Given the description of an element on the screen output the (x, y) to click on. 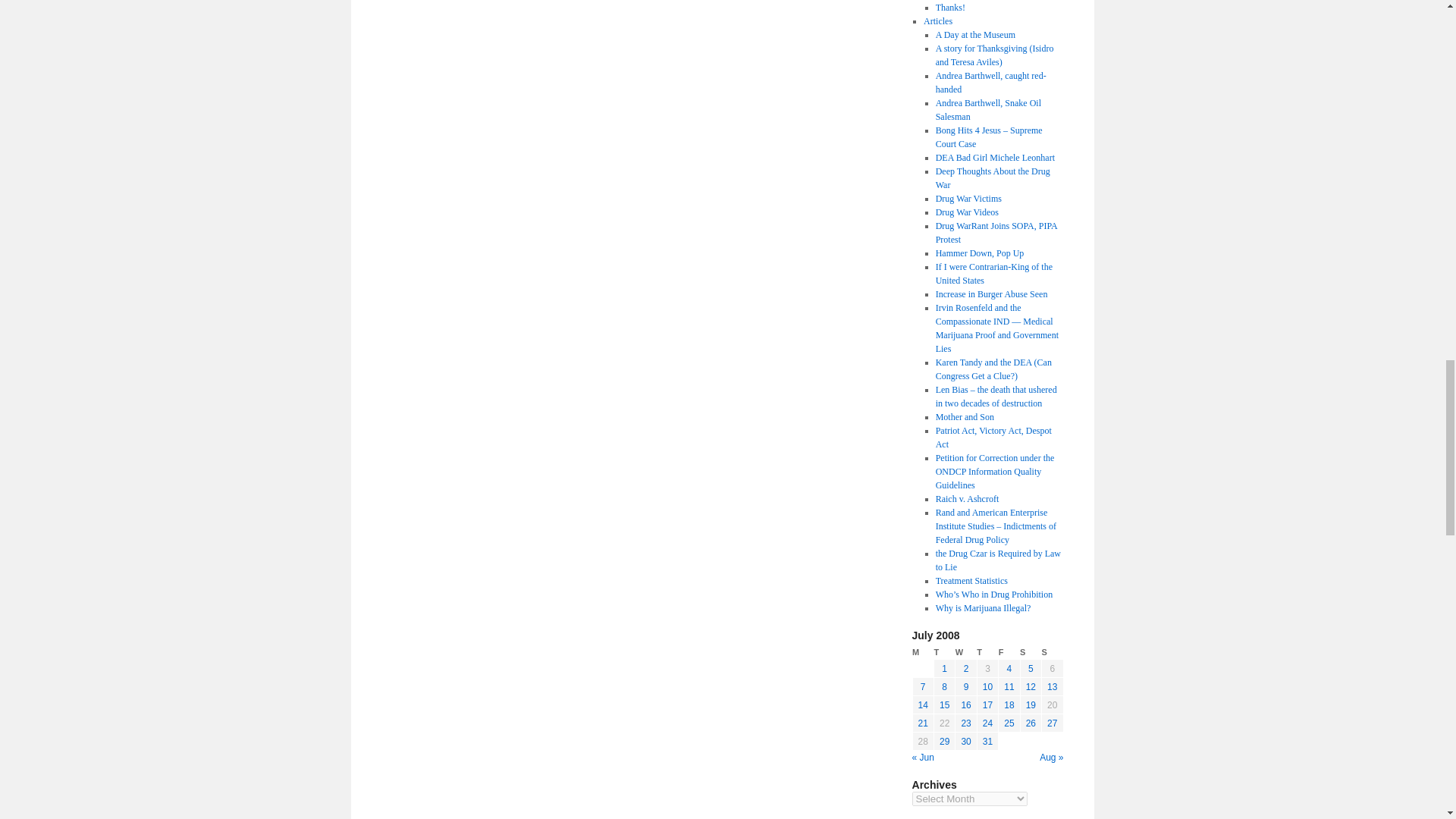
Sunday (1052, 652)
Tuesday (944, 652)
Thursday (986, 652)
Wednesday (965, 652)
Monday (922, 652)
Saturday (1030, 652)
Friday (1009, 652)
